Given the description of an element on the screen output the (x, y) to click on. 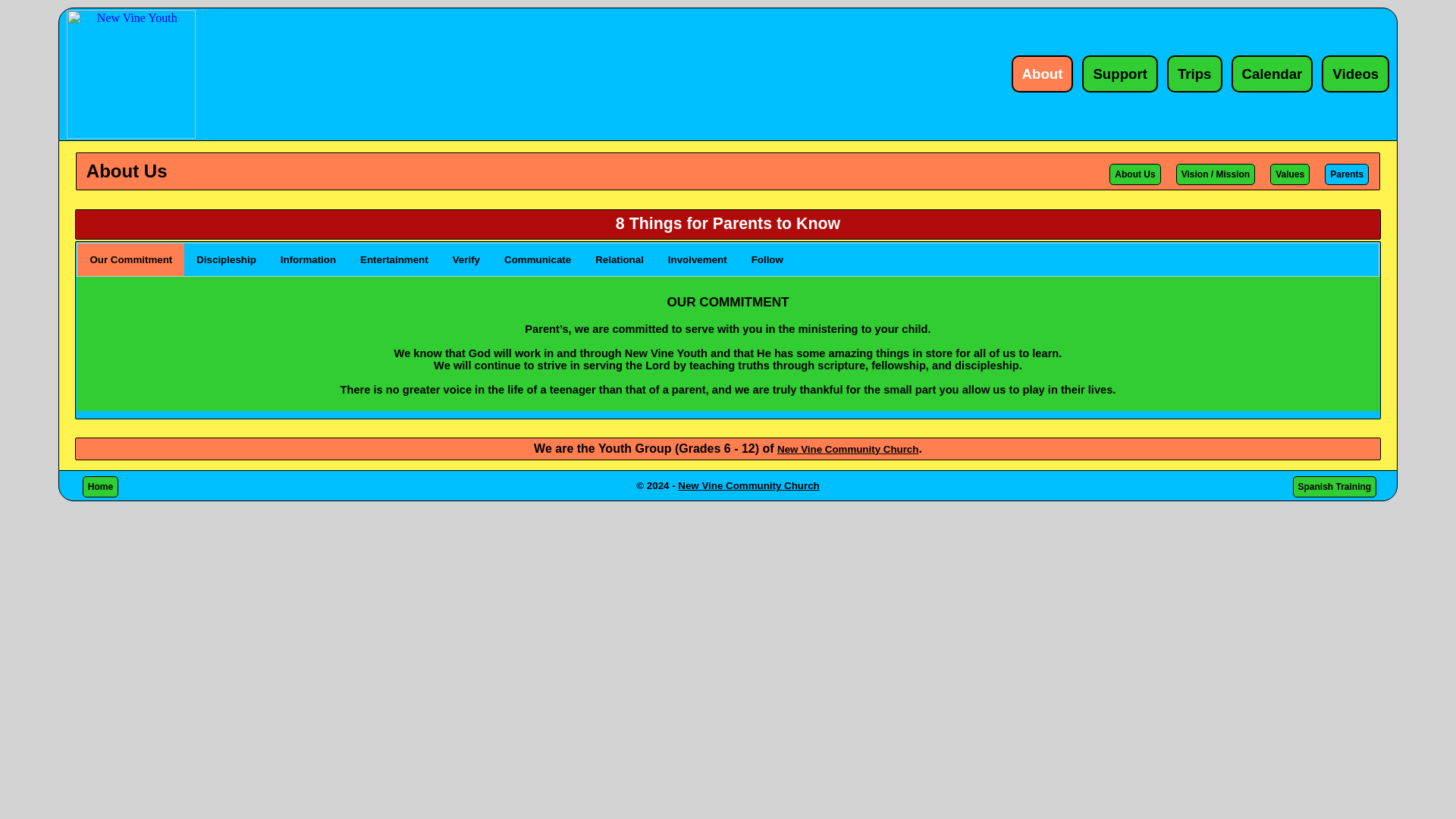
Verify (466, 258)
About (1042, 73)
Calendar (1272, 73)
About Us (1134, 174)
Involvement (697, 258)
Follow (766, 258)
Home (99, 486)
Values (1288, 174)
Discipleship (225, 258)
Parents (1346, 174)
